Given the description of an element on the screen output the (x, y) to click on. 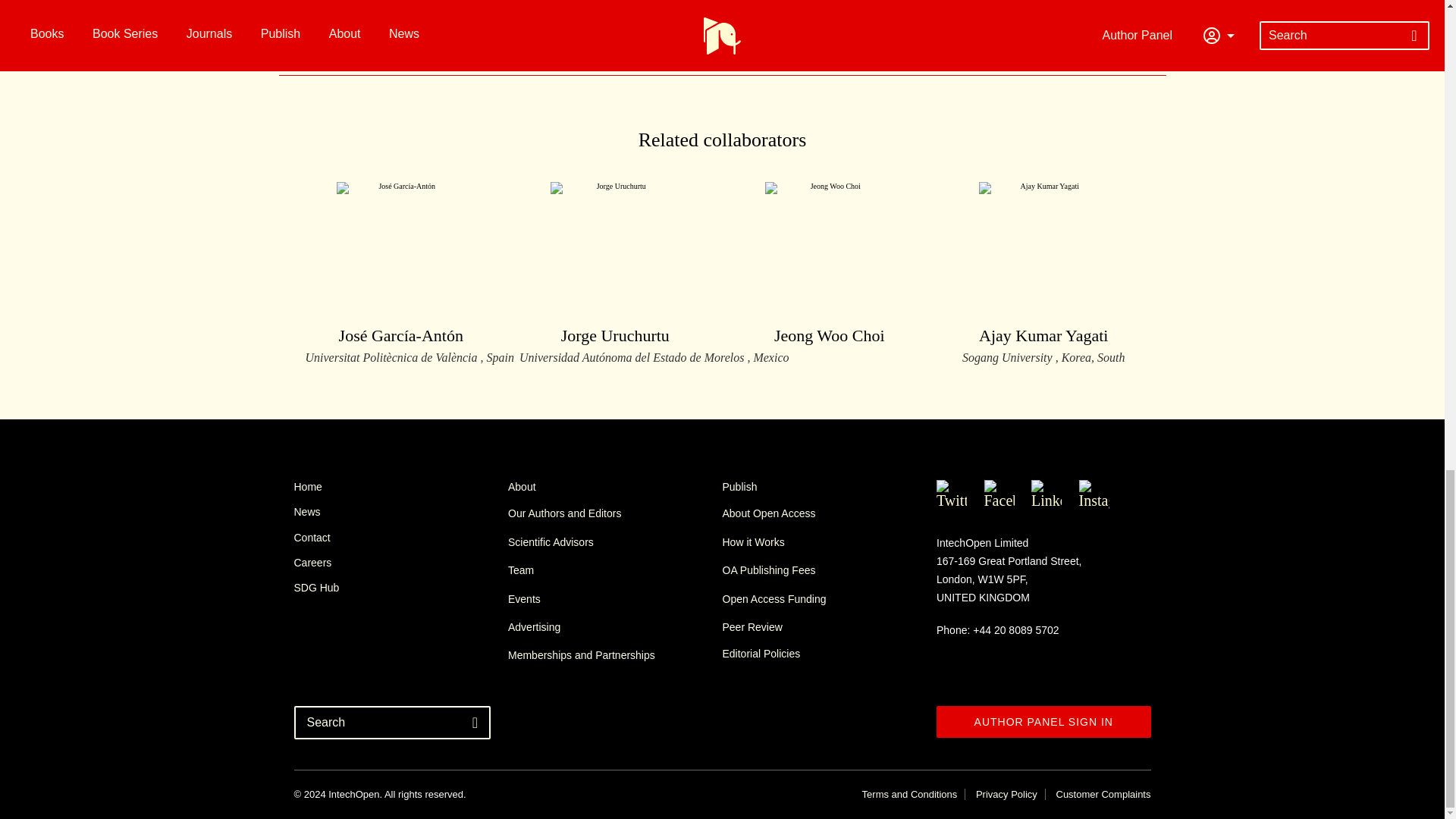
SDG Hub (401, 587)
Updates in Volcanology (566, 15)
Careers (401, 562)
News (1043, 273)
Jeong Woo Choi (401, 511)
Contact (829, 265)
Home (401, 537)
